Given the description of an element on the screen output the (x, y) to click on. 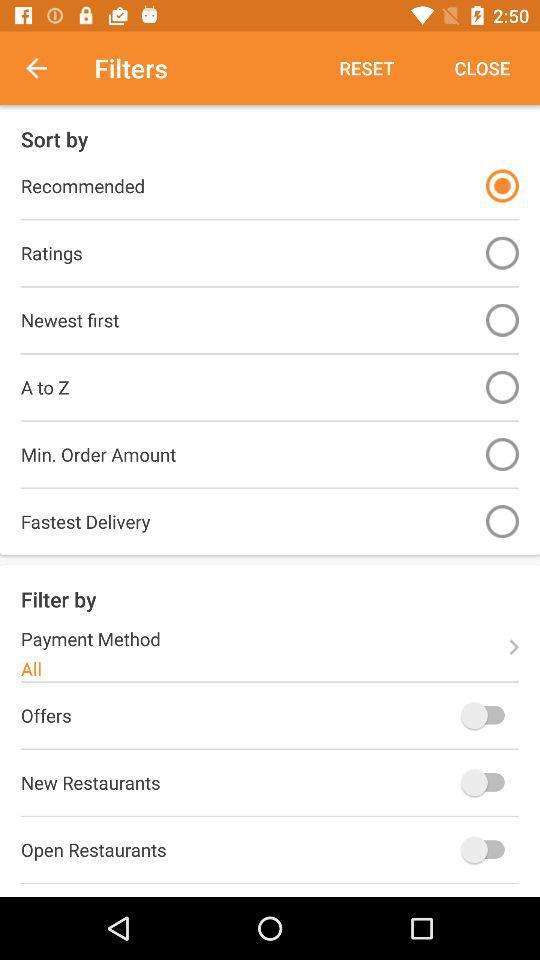
toggle ratings (502, 252)
